Given the description of an element on the screen output the (x, y) to click on. 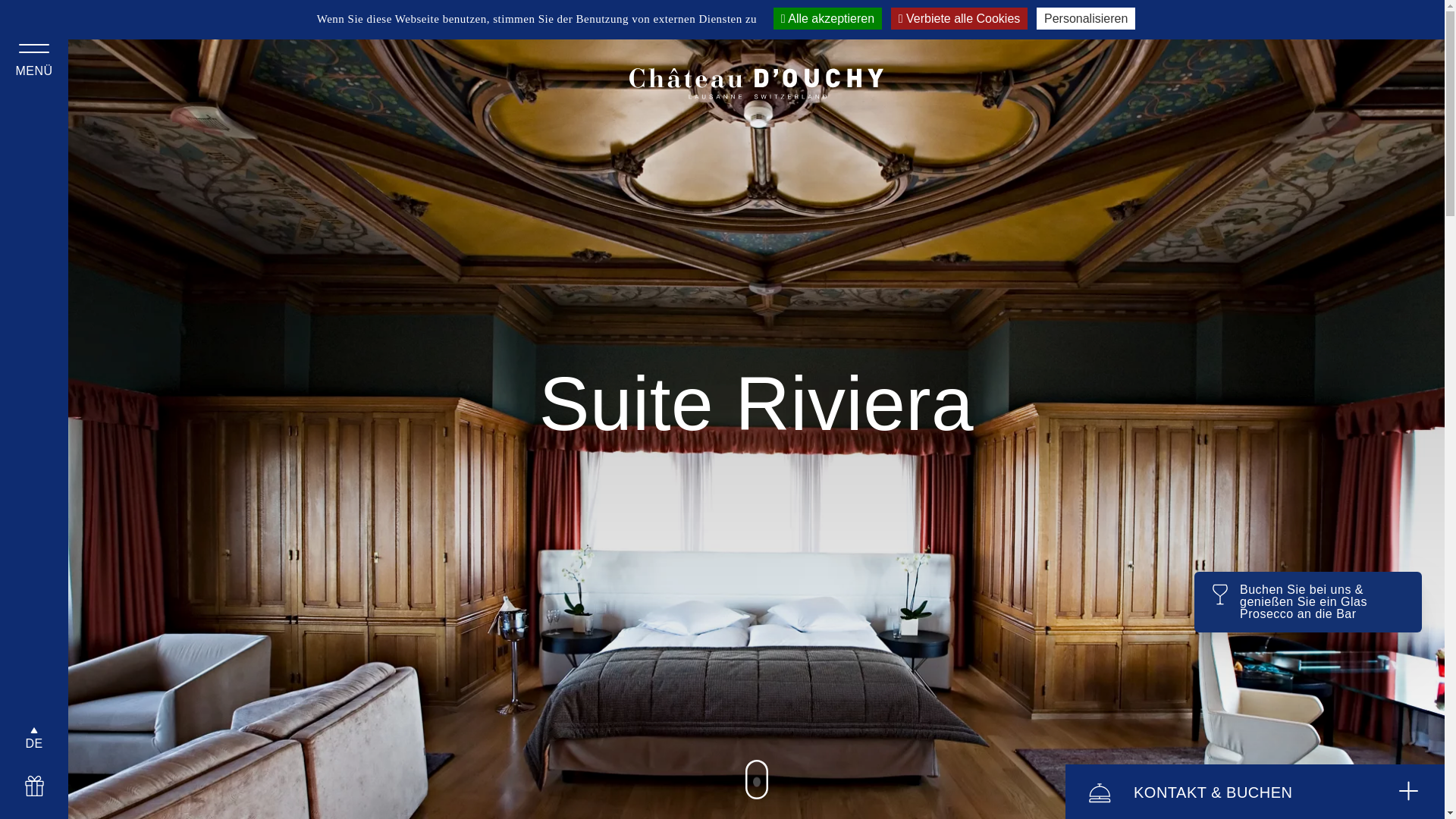
Alle akzeptieren Element type: text (827, 18)
Verbiete alle Cookies Element type: text (959, 18)
Personalisieren Element type: text (1085, 18)
DE Element type: text (34, 743)
